Given the description of an element on the screen output the (x, y) to click on. 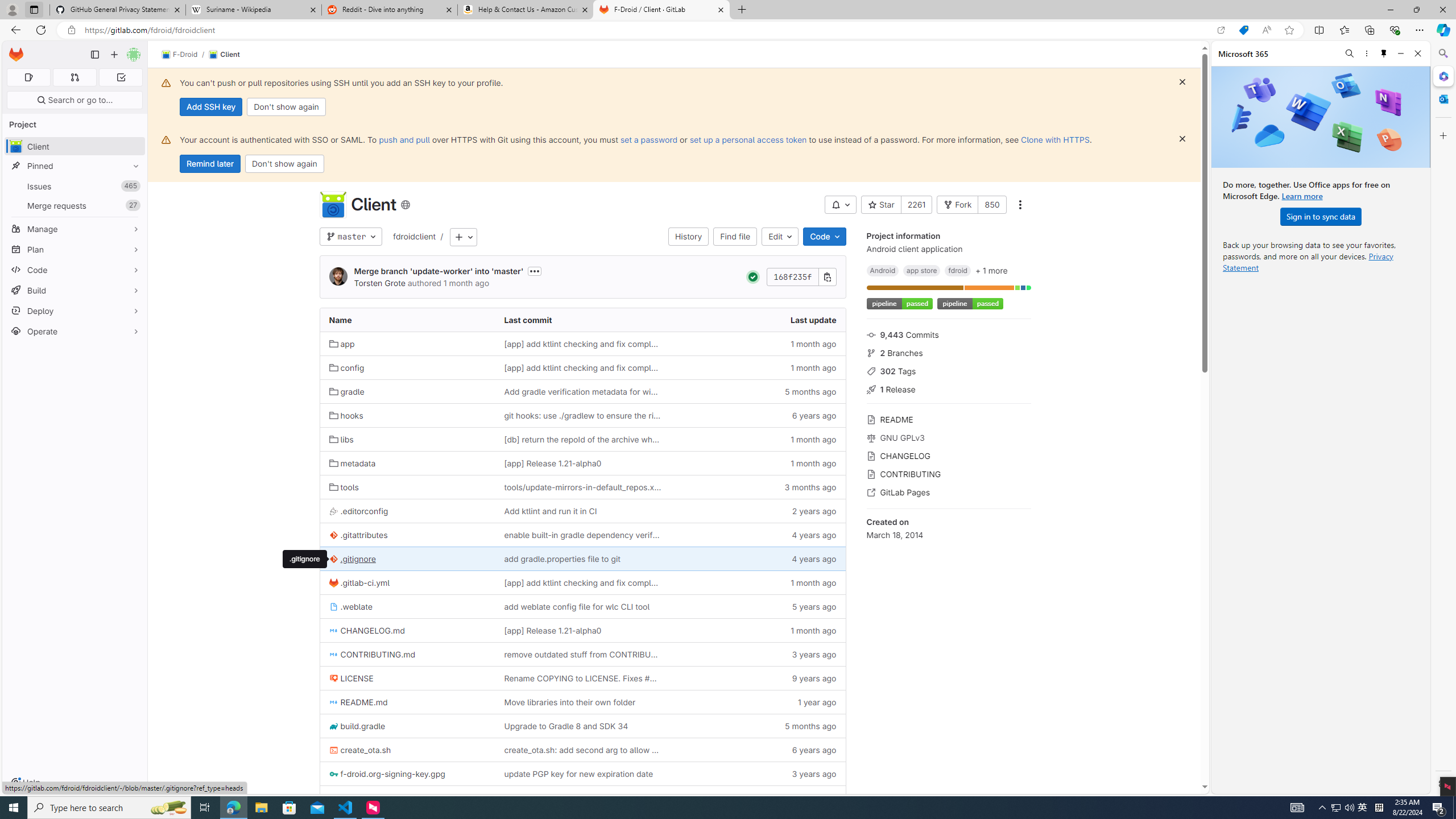
Learn more about Microsoft Office. (1302, 195)
Torsten Grote (379, 283)
libs (407, 439)
Deploy (74, 310)
master (349, 236)
Assigned issues 0 (28, 76)
fdroid (957, 269)
Plan (74, 248)
Don't show again (284, 163)
